Given the description of an element on the screen output the (x, y) to click on. 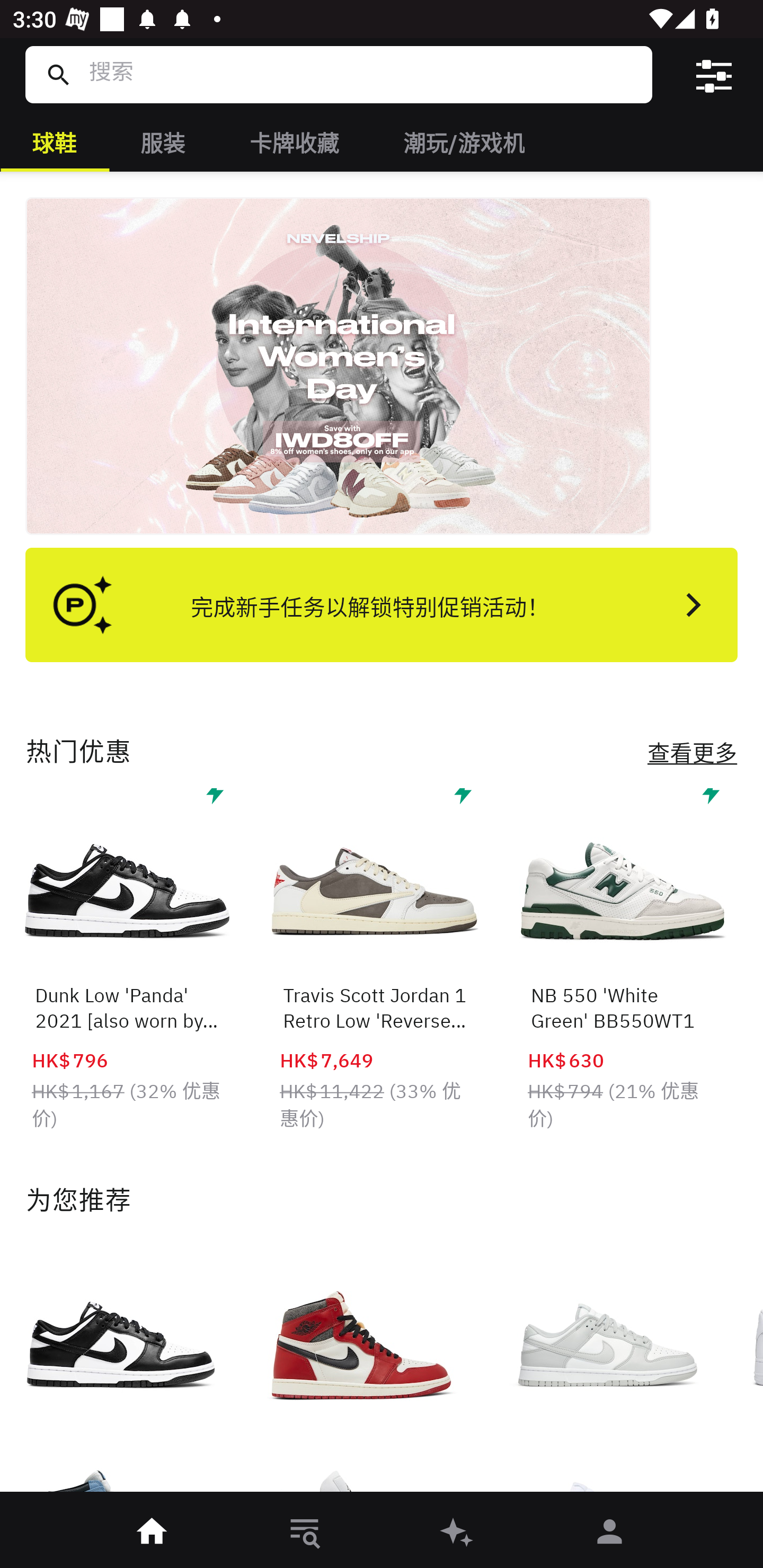
搜索 (358, 74)
 (713, 74)
球鞋 (54, 140)
服装 (162, 140)
卡牌收藏 (293, 140)
潮玩/游戏机 (463, 140)
完成新手任务以解锁特别促销活动！  (381, 604)
查看更多 (692, 752)
󰋜 (152, 1532)
󱎸 (305, 1532)
󰫢 (457, 1532)
󰀄 (610, 1532)
